Given the description of an element on the screen output the (x, y) to click on. 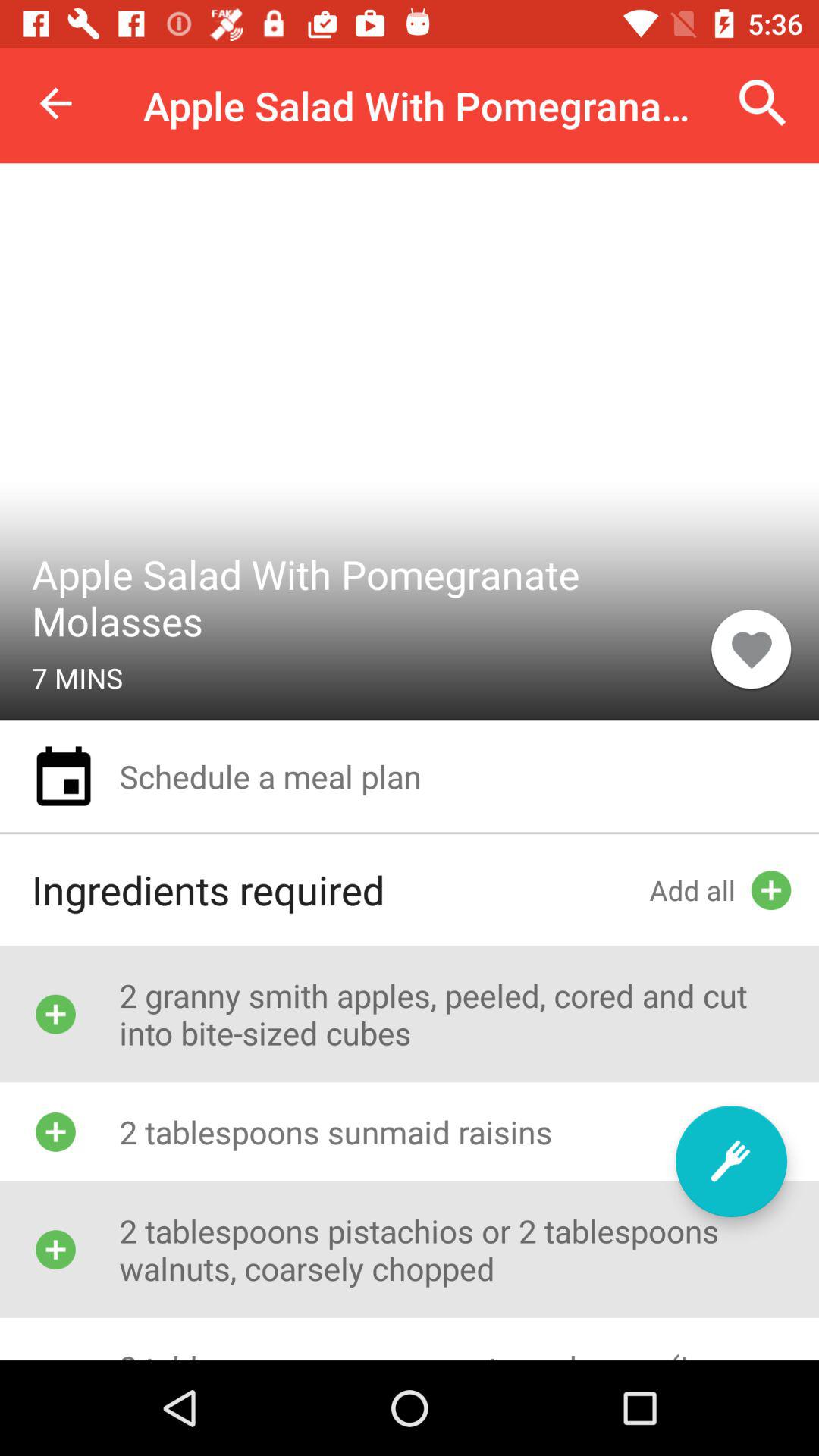
tap item above the 2 tablespoons pomegranate icon (731, 1161)
